Given the description of an element on the screen output the (x, y) to click on. 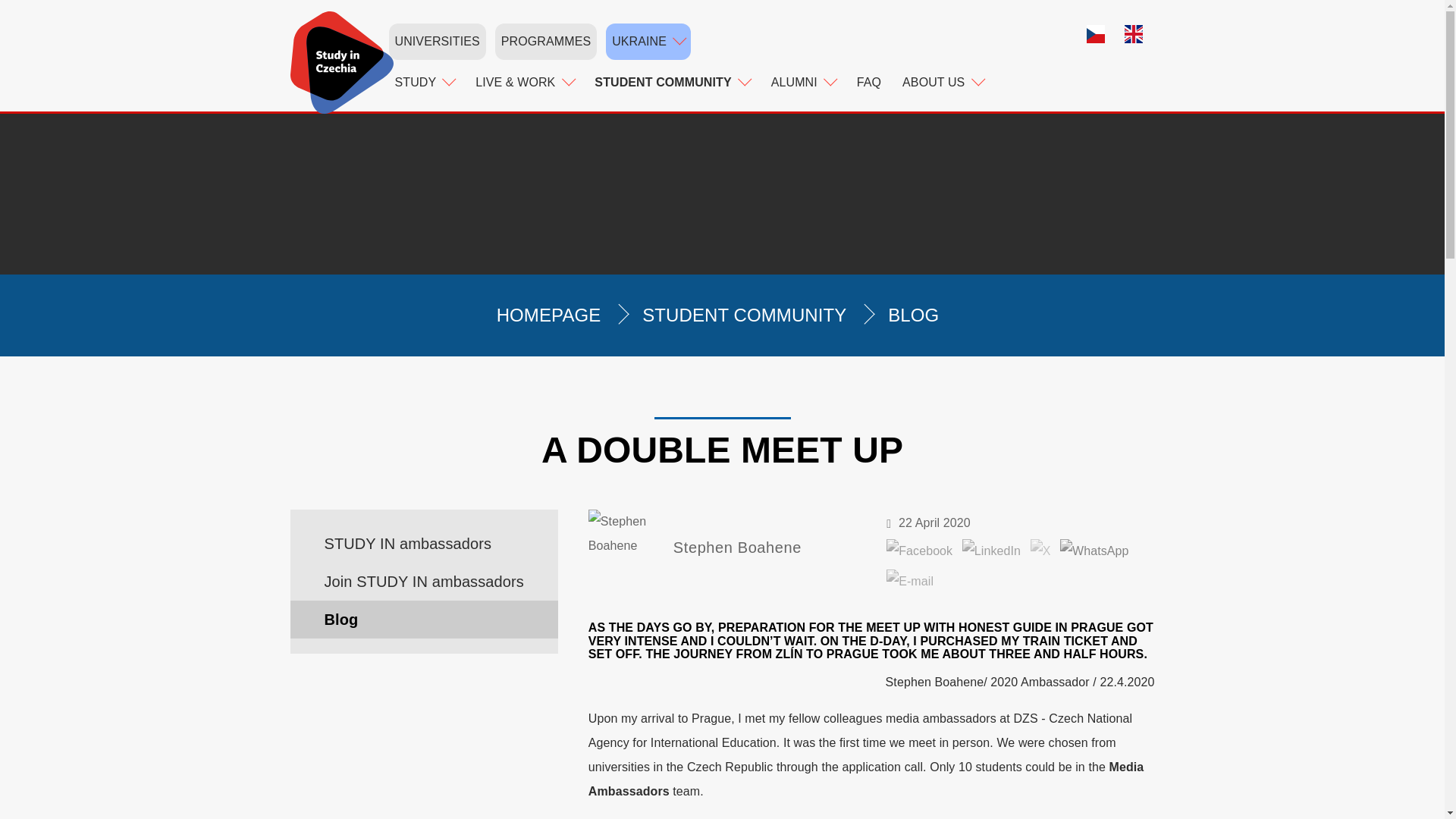
Study programmes in the Czech Republic (545, 41)
UKRAINE (647, 41)
Homepage (341, 62)
English (1139, 36)
STUDY (424, 82)
UNIVERSITIES (436, 41)
PROGRAMMES (545, 41)
Universities in the Czech Republic (436, 41)
